Given the description of an element on the screen output the (x, y) to click on. 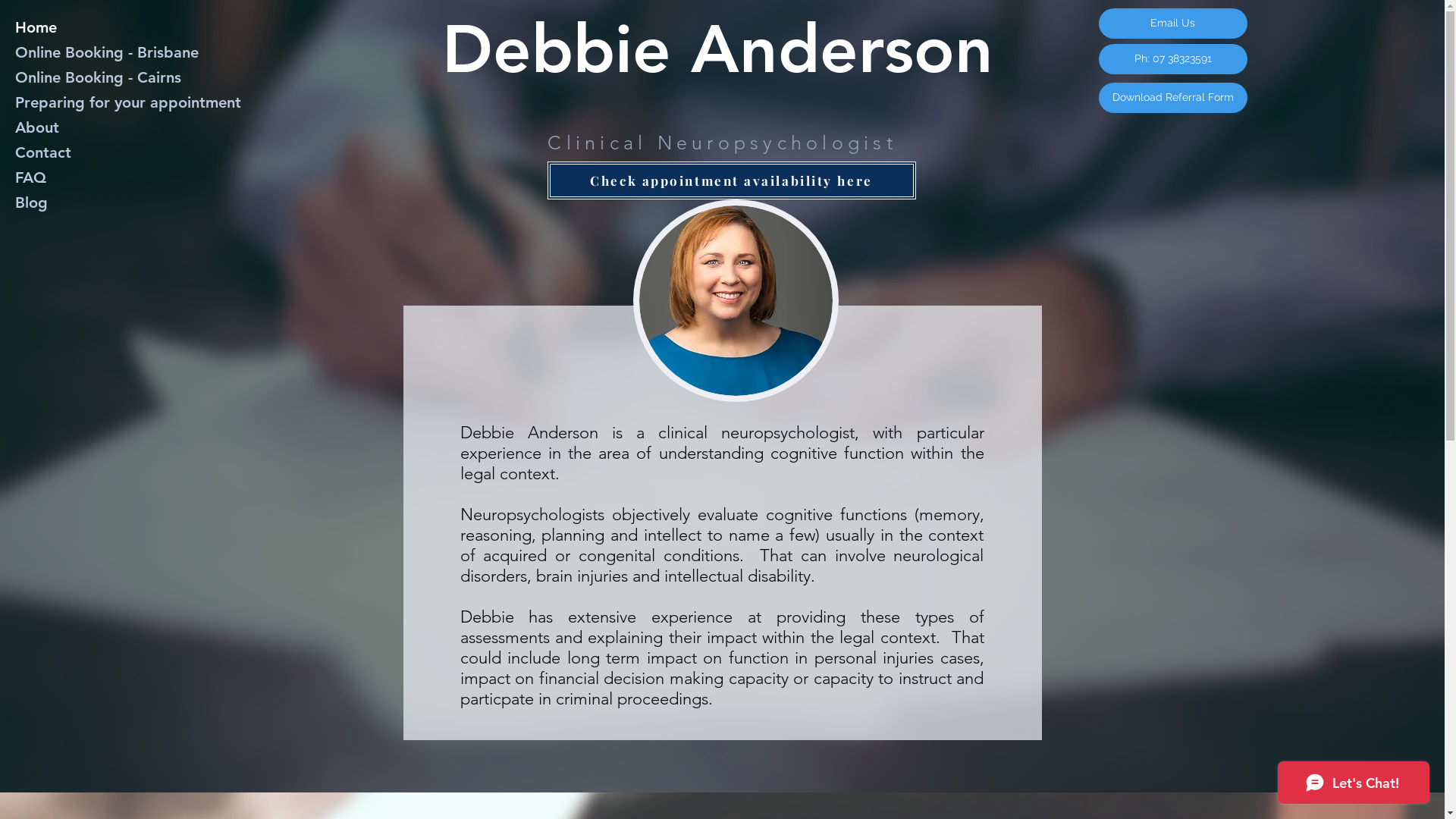
Check appointment availability here Element type: text (731, 180)
Online Booking - Cairns Element type: text (106, 77)
Contact Element type: text (106, 152)
Blog Element type: text (106, 202)
Preparing for your appointment Element type: text (106, 102)
Debbie photo.jpg Element type: hover (734, 300)
Home Element type: text (106, 27)
Online Booking - Brisbane Element type: text (106, 52)
Email Us Element type: text (1172, 23)
Download Referral Form Element type: text (1172, 97)
About Element type: text (106, 127)
FAQ Element type: text (106, 177)
